Given the description of an element on the screen output the (x, y) to click on. 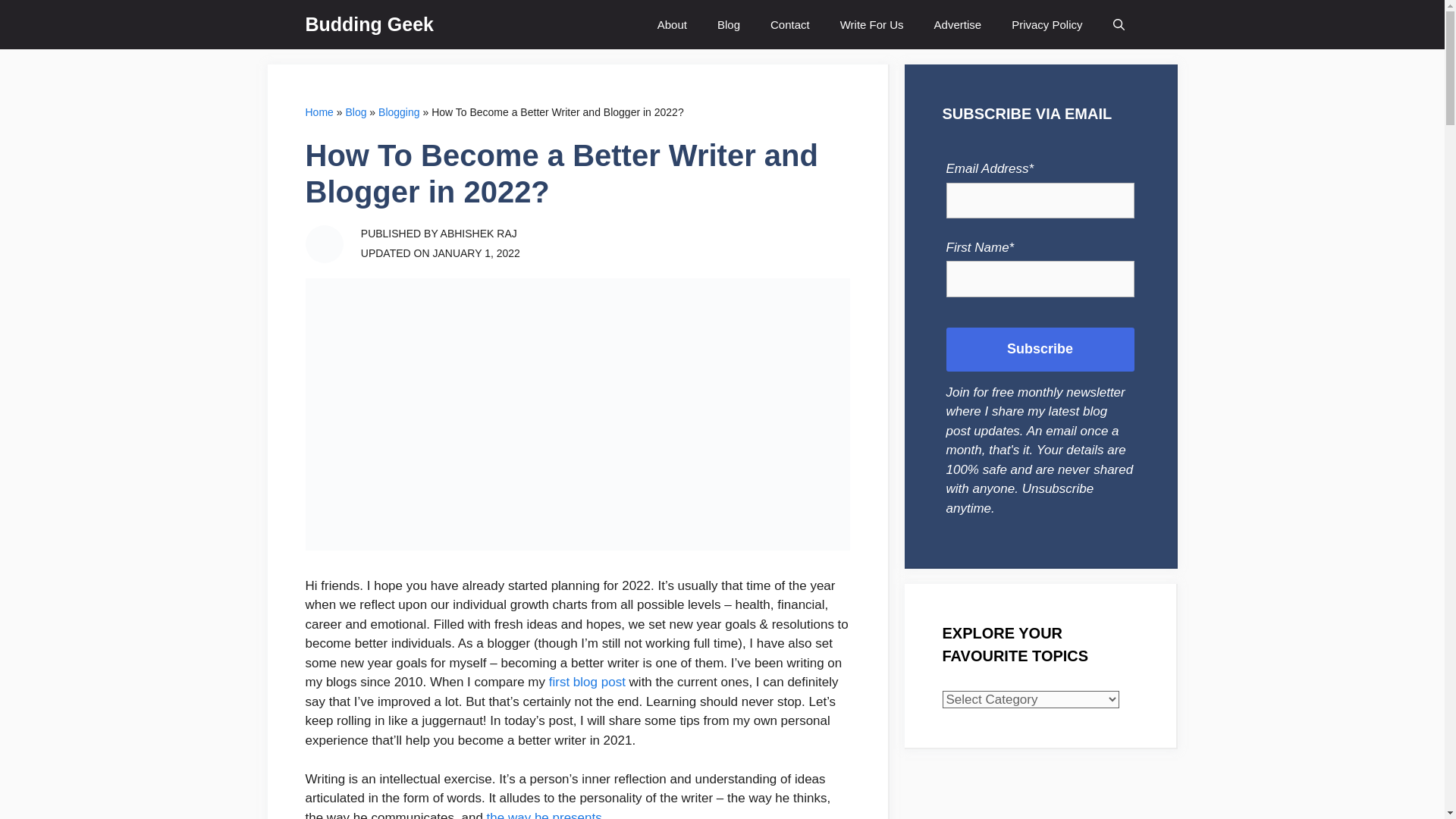
About (671, 24)
Contact (790, 24)
Subscribe (1040, 349)
first blog post (587, 681)
Blogging (399, 111)
Home (318, 111)
Write For Us (871, 24)
Blog (728, 24)
Advertise (957, 24)
the way he presents (544, 814)
Blog (355, 111)
Privacy Policy (1046, 24)
Subscribe (1040, 349)
Budding Geek (368, 24)
